Given the description of an element on the screen output the (x, y) to click on. 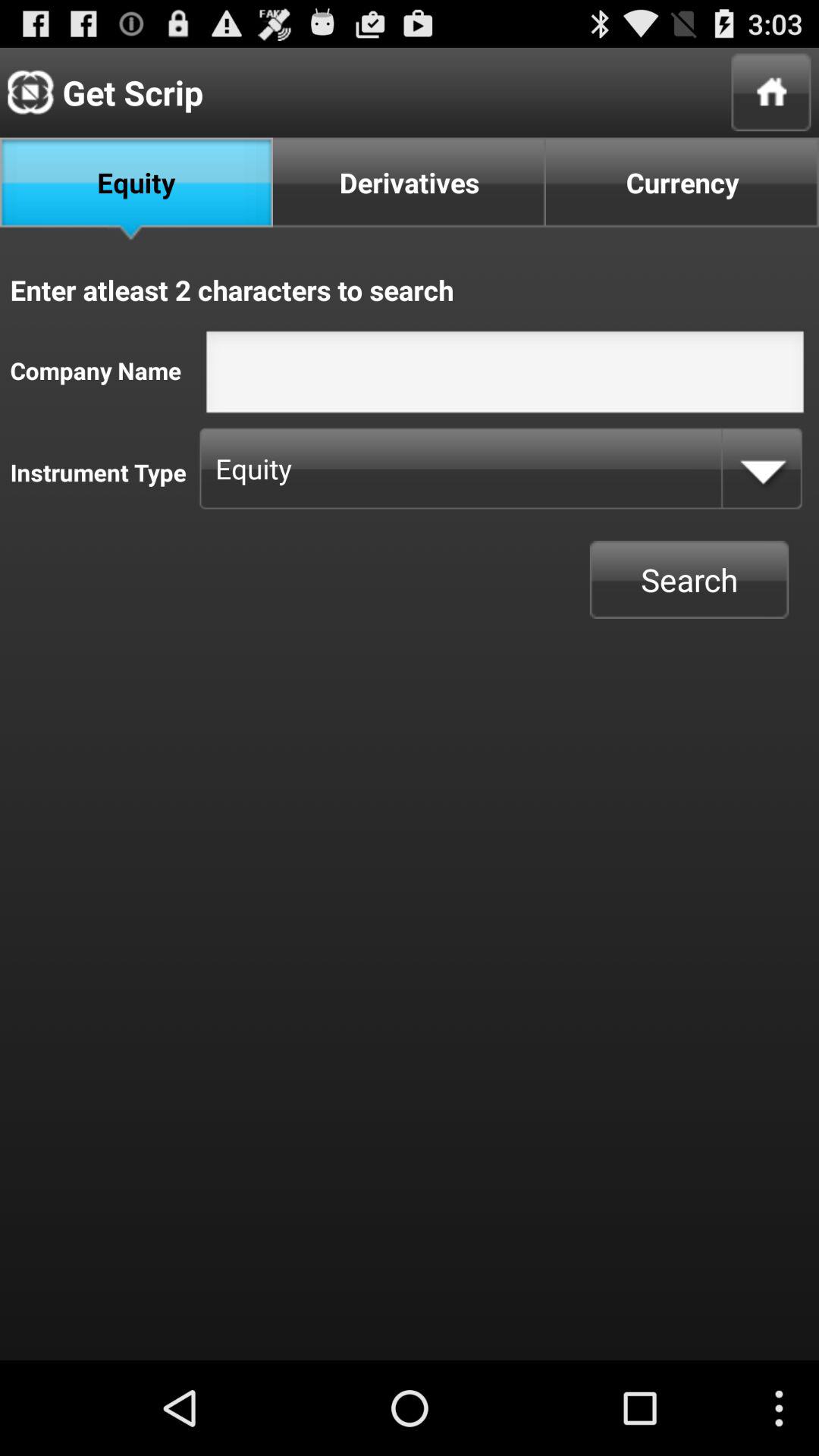
go to home page option (771, 92)
